Given the description of an element on the screen output the (x, y) to click on. 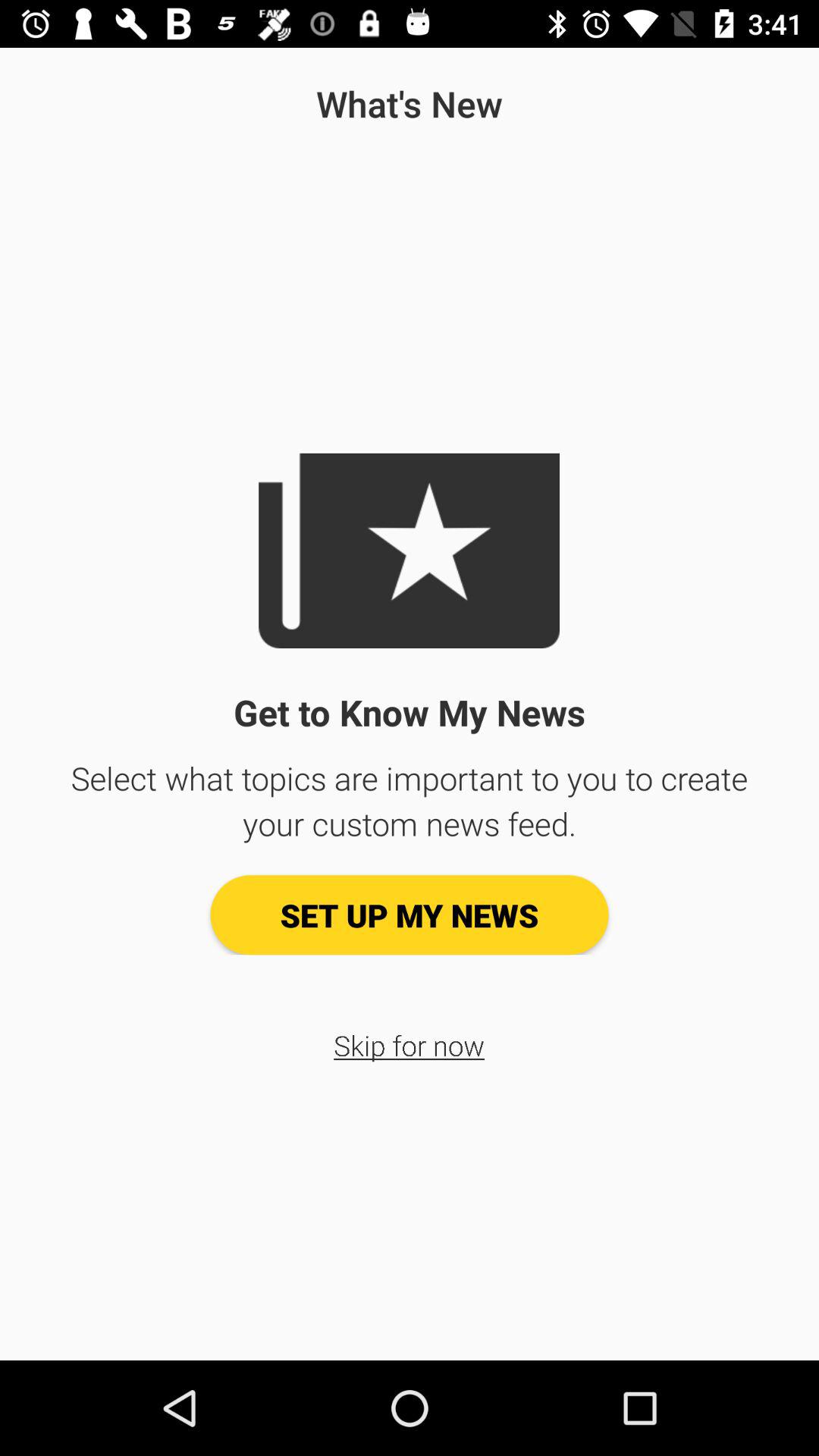
open set up my button (409, 914)
